Given the description of an element on the screen output the (x, y) to click on. 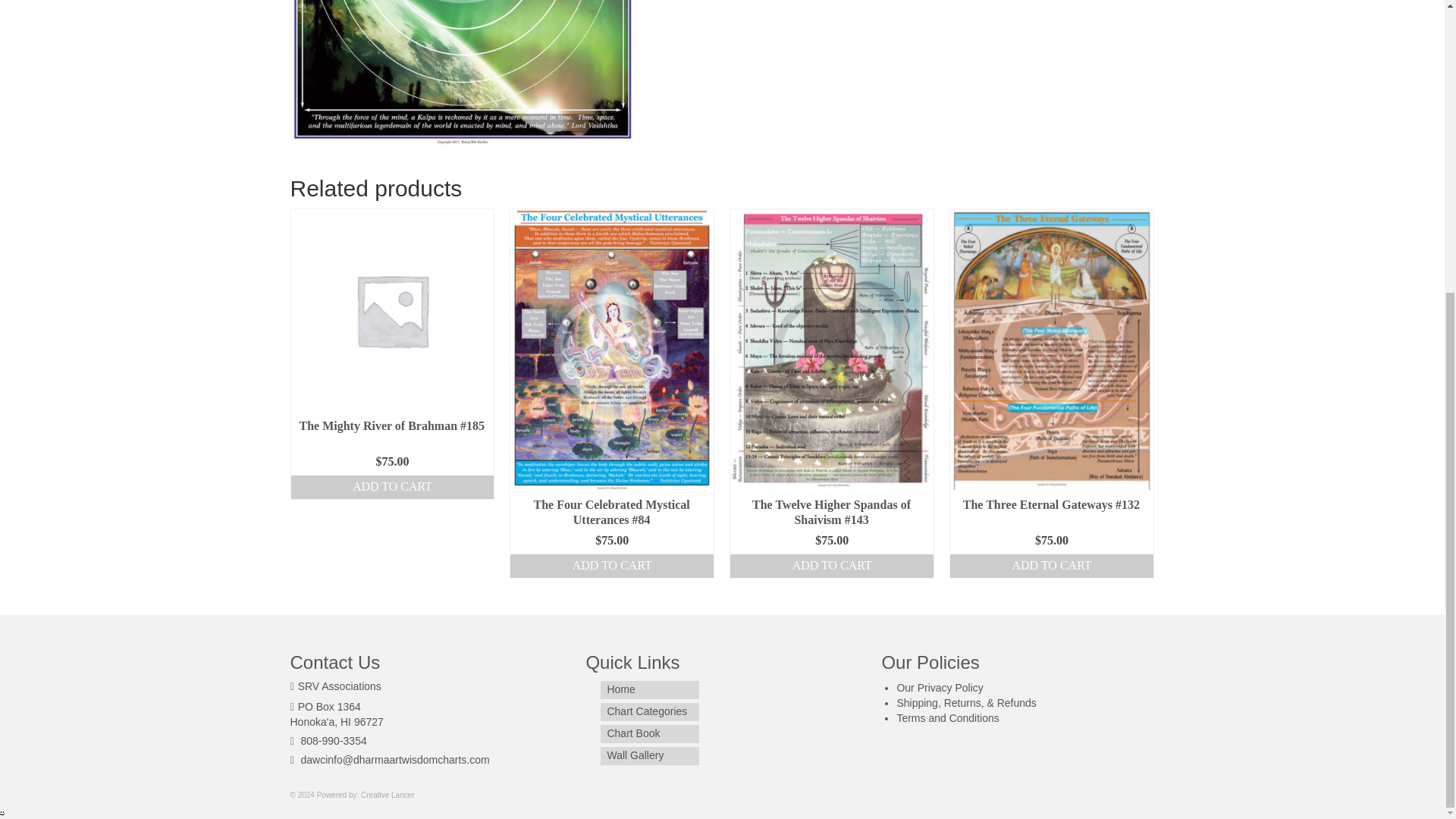
ADD TO CART (393, 486)
Our Privacy Policy (939, 687)
ADD TO CART (831, 566)
Terms and Conditions (947, 717)
Home (648, 689)
ADD TO CART (612, 566)
Wall Gallery (648, 755)
Chart Book (648, 733)
ADD TO CART (1051, 566)
Chart Categories (648, 711)
